Given the description of an element on the screen output the (x, y) to click on. 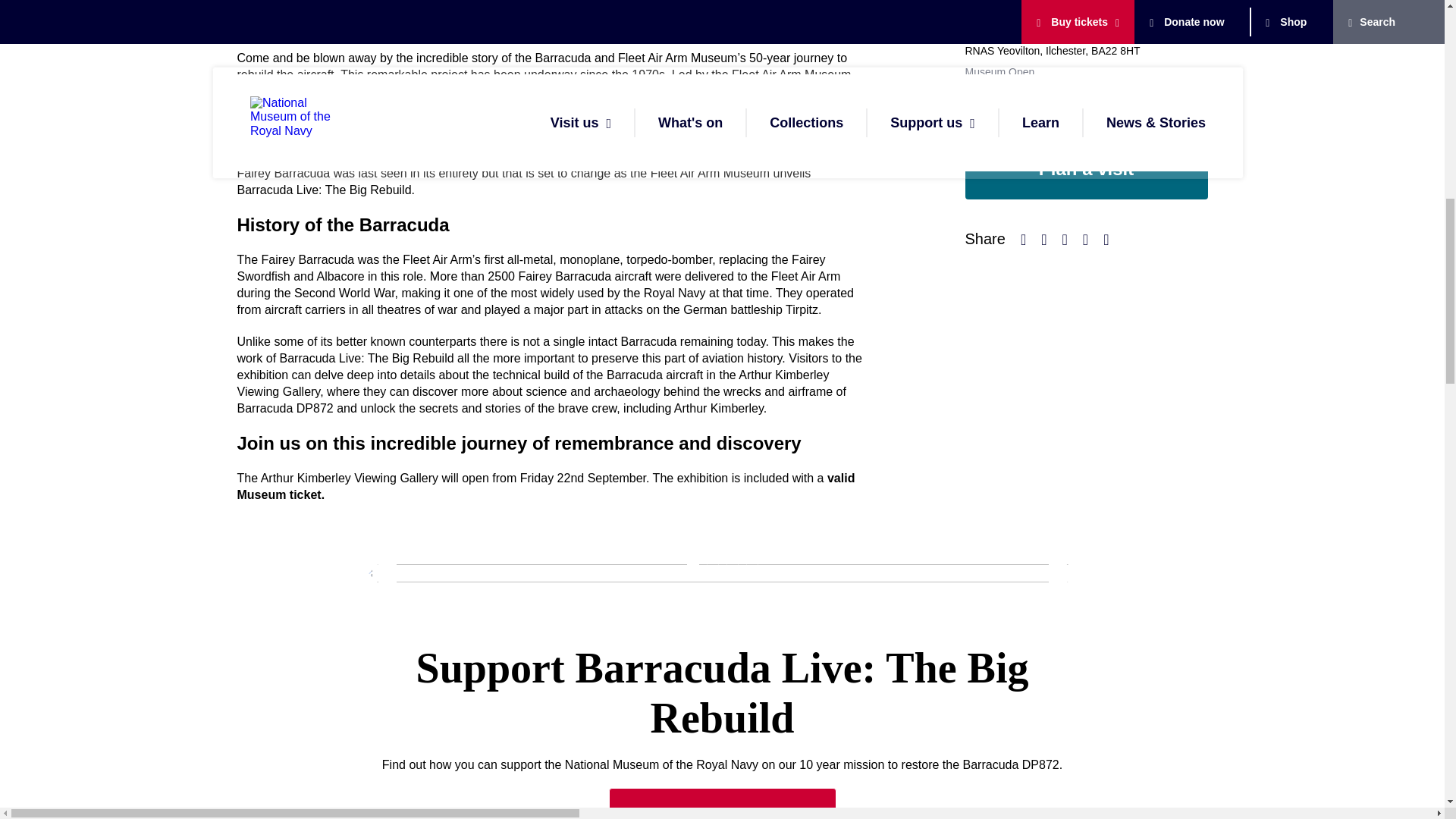
Previous slide (377, 573)
Next slide (1067, 573)
Buy tickets for Fleet Air Arm Museum (544, 486)
